Given the description of an element on the screen output the (x, y) to click on. 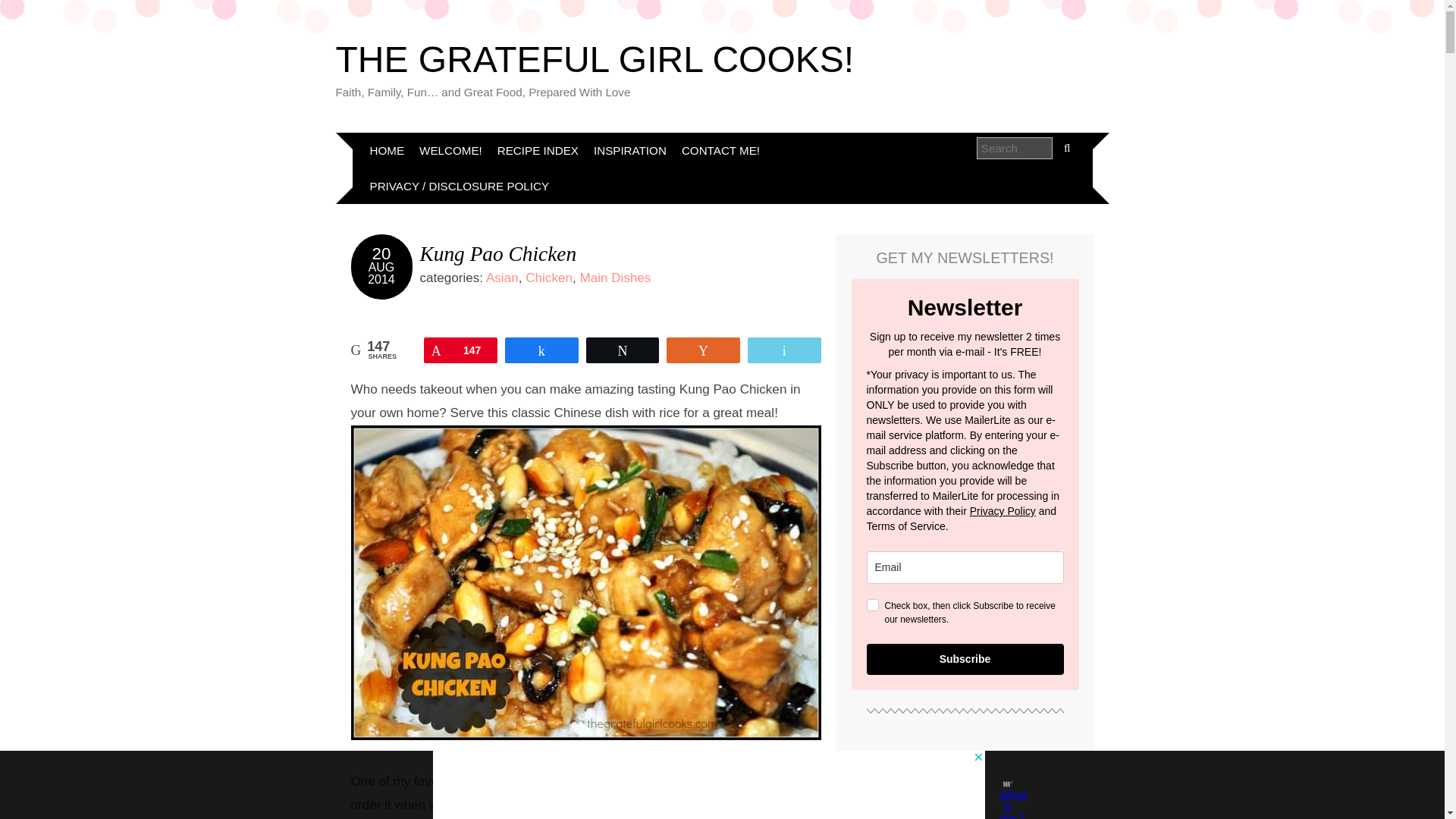
CONTACT ME! (720, 150)
RECIPE INDEX (537, 150)
20 (381, 253)
Main Dishes (614, 278)
147 (460, 349)
Chicken (548, 278)
Kung Pao Chicken (498, 253)
WELCOME! (450, 150)
HOME (387, 150)
Asian (502, 278)
THE GRATEFUL GIRL COOKS! (593, 59)
INSPIRATION (630, 150)
